Given the description of an element on the screen output the (x, y) to click on. 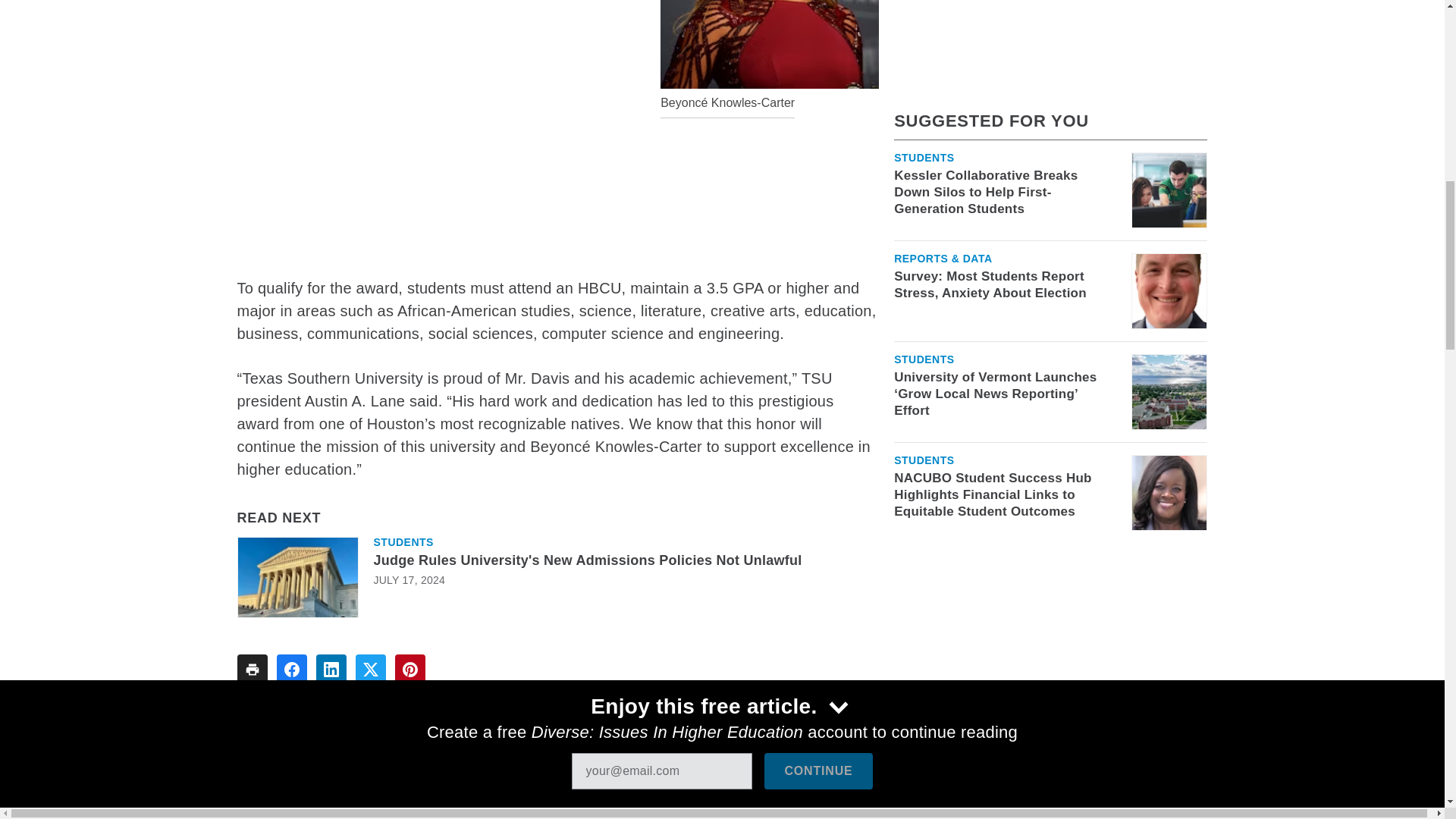
Students (402, 542)
Share To print (250, 669)
Share To facebook (290, 669)
